Given the description of an element on the screen output the (x, y) to click on. 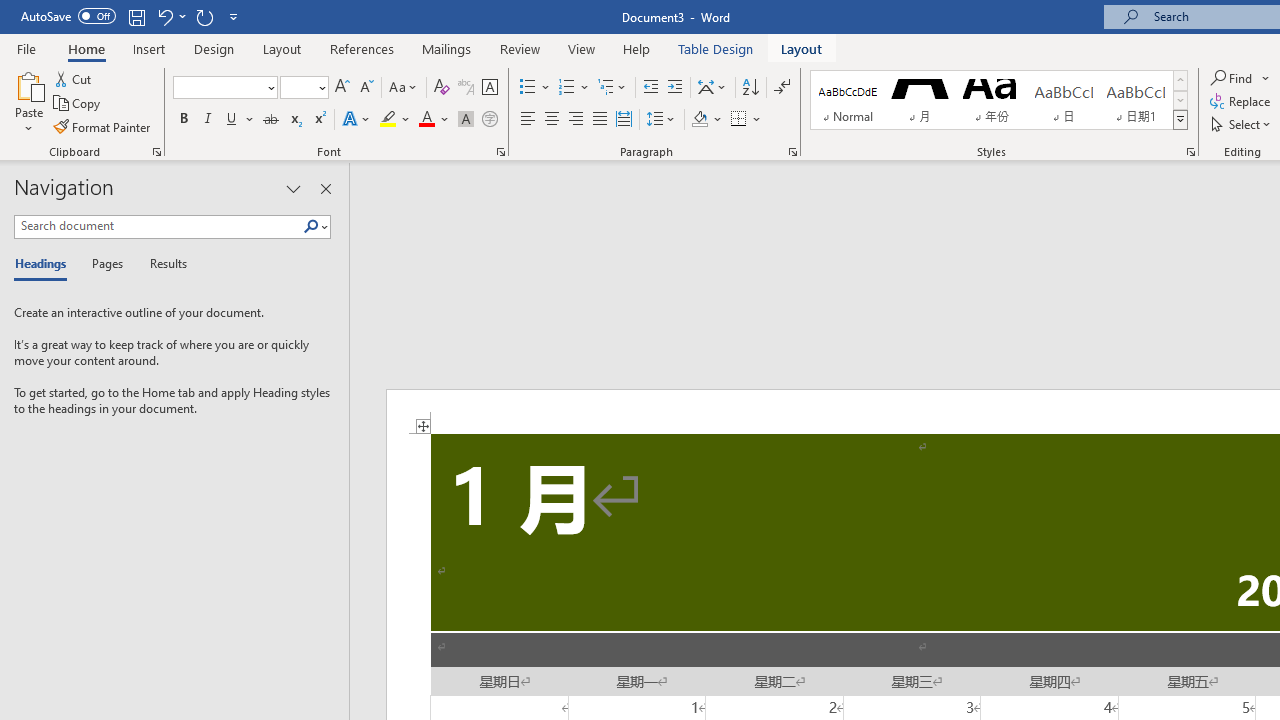
Repeat Doc Close (204, 15)
